Given the description of an element on the screen output the (x, y) to click on. 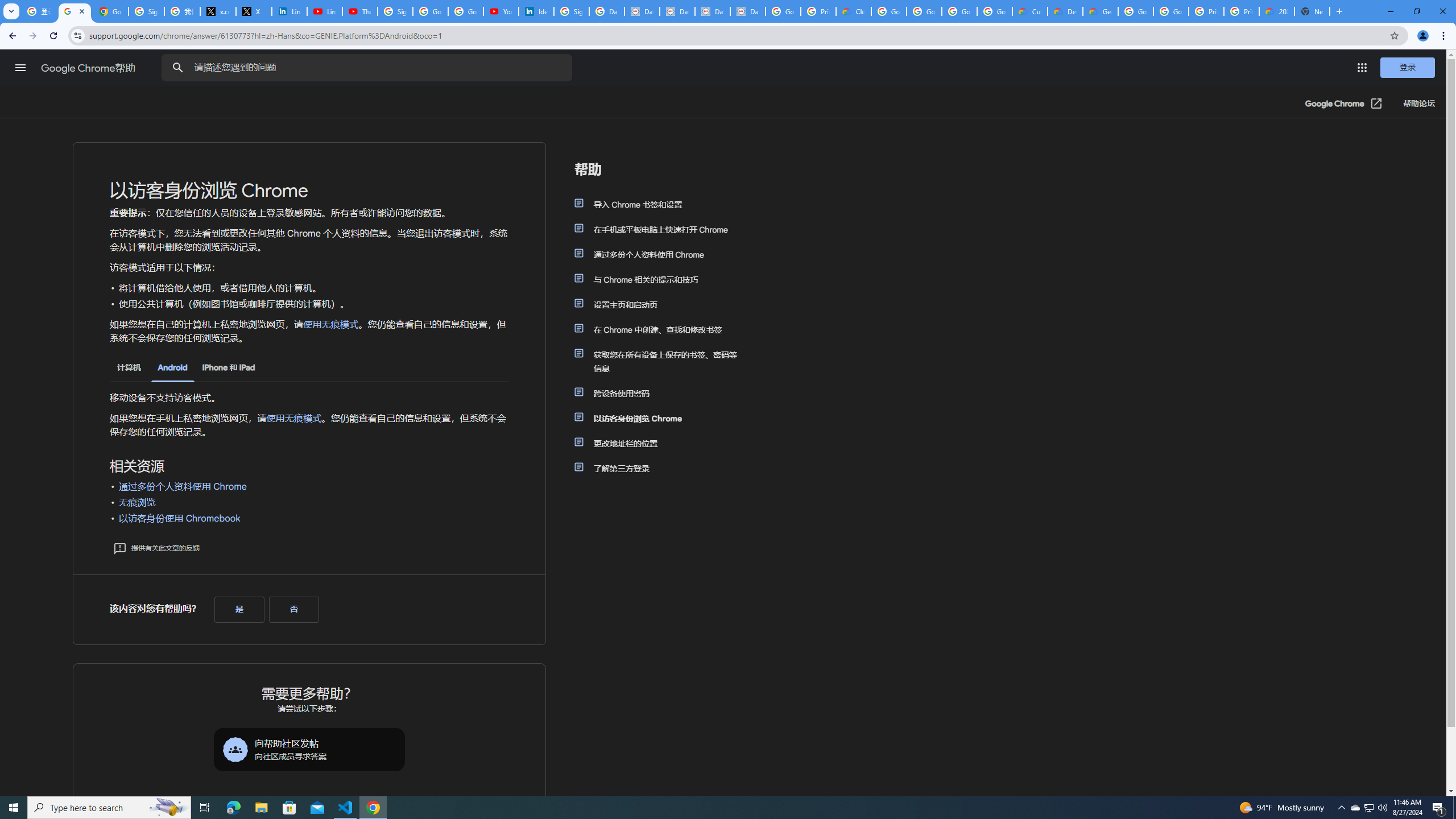
Google Workspace - Specific Terms (959, 11)
Chrome (1445, 35)
Data Privacy Framework (747, 11)
Sign in - Google Accounts (145, 11)
Back (10, 35)
Restore (1416, 11)
Cloud Data Processing Addendum | Google Cloud (853, 11)
New Tab (1312, 11)
